Given the description of an element on the screen output the (x, y) to click on. 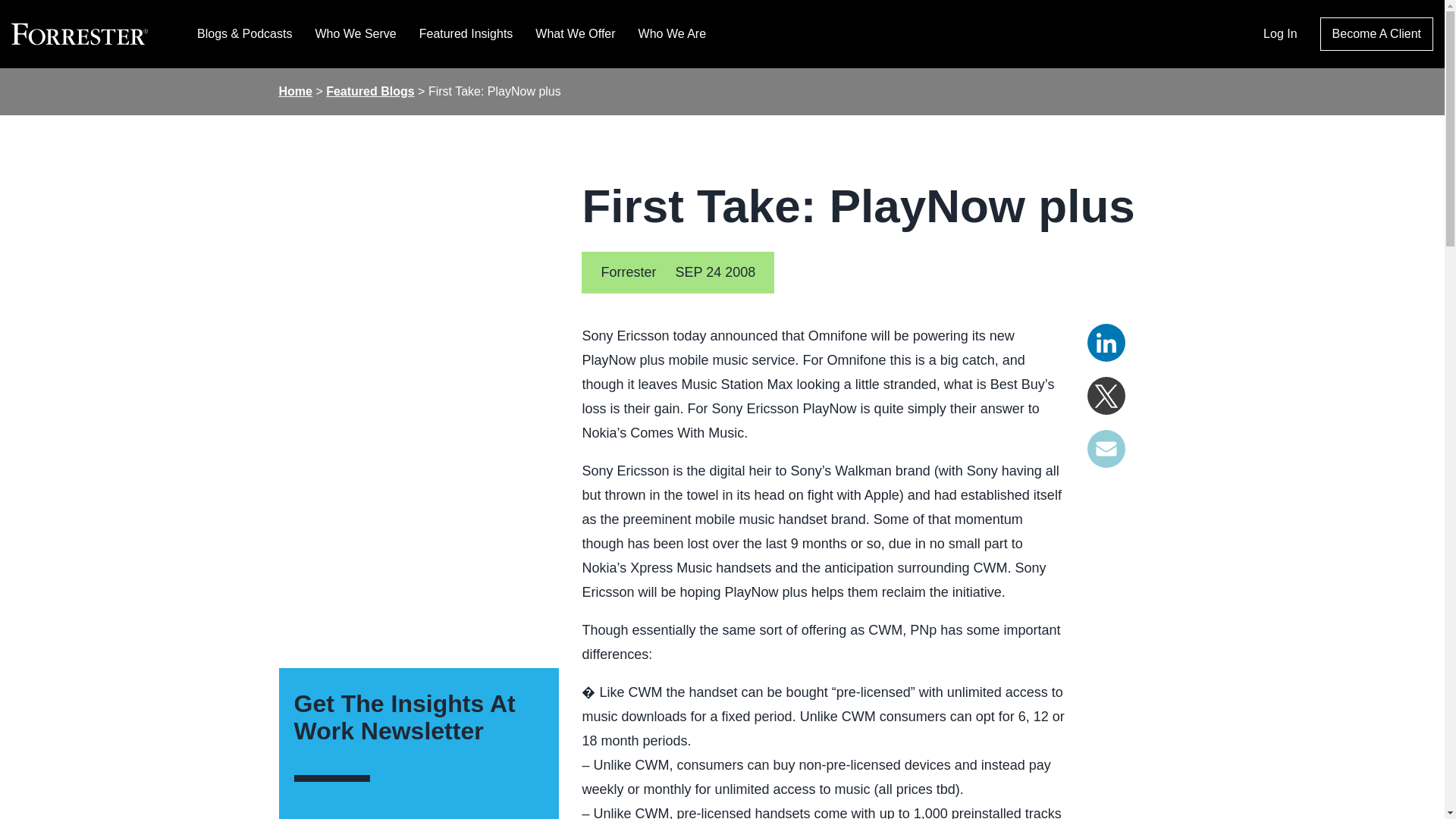
Who We Serve (355, 33)
Featured Insights (466, 33)
What We Offer (574, 33)
